Given the description of an element on the screen output the (x, y) to click on. 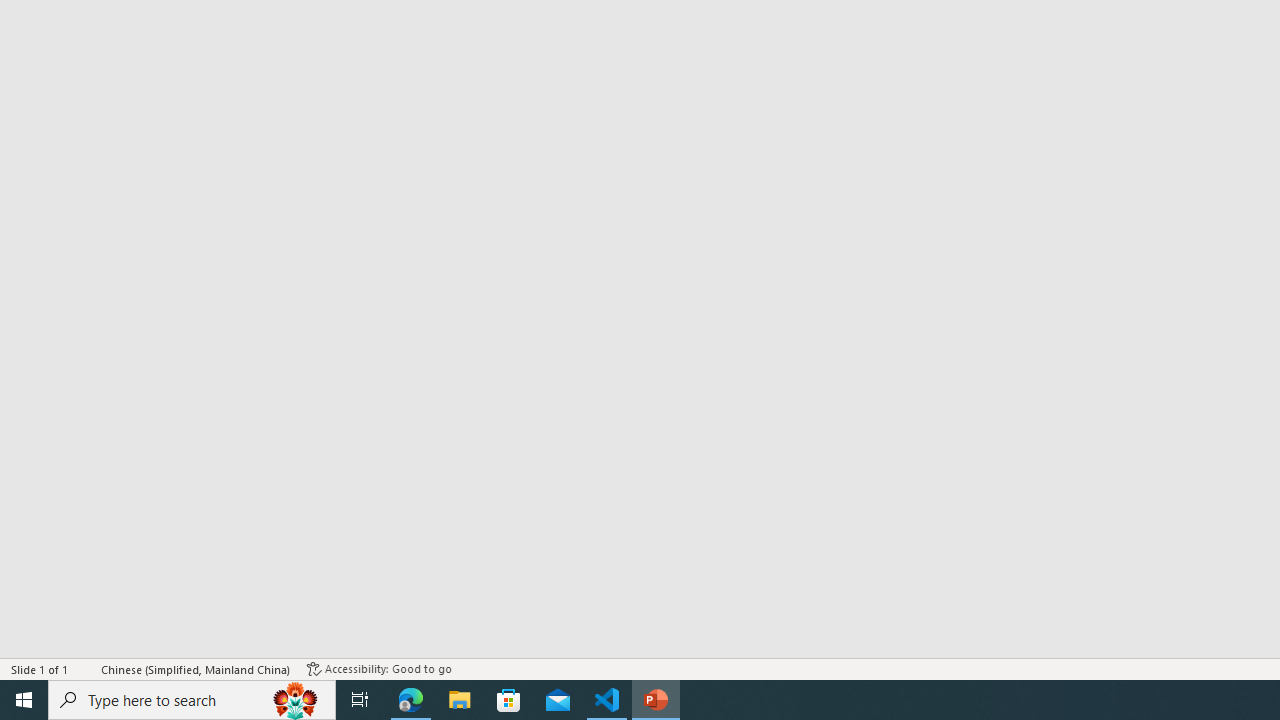
Spell Check  (86, 668)
Accessibility Checker Accessibility: Good to go (379, 668)
